Given the description of an element on the screen output the (x, y) to click on. 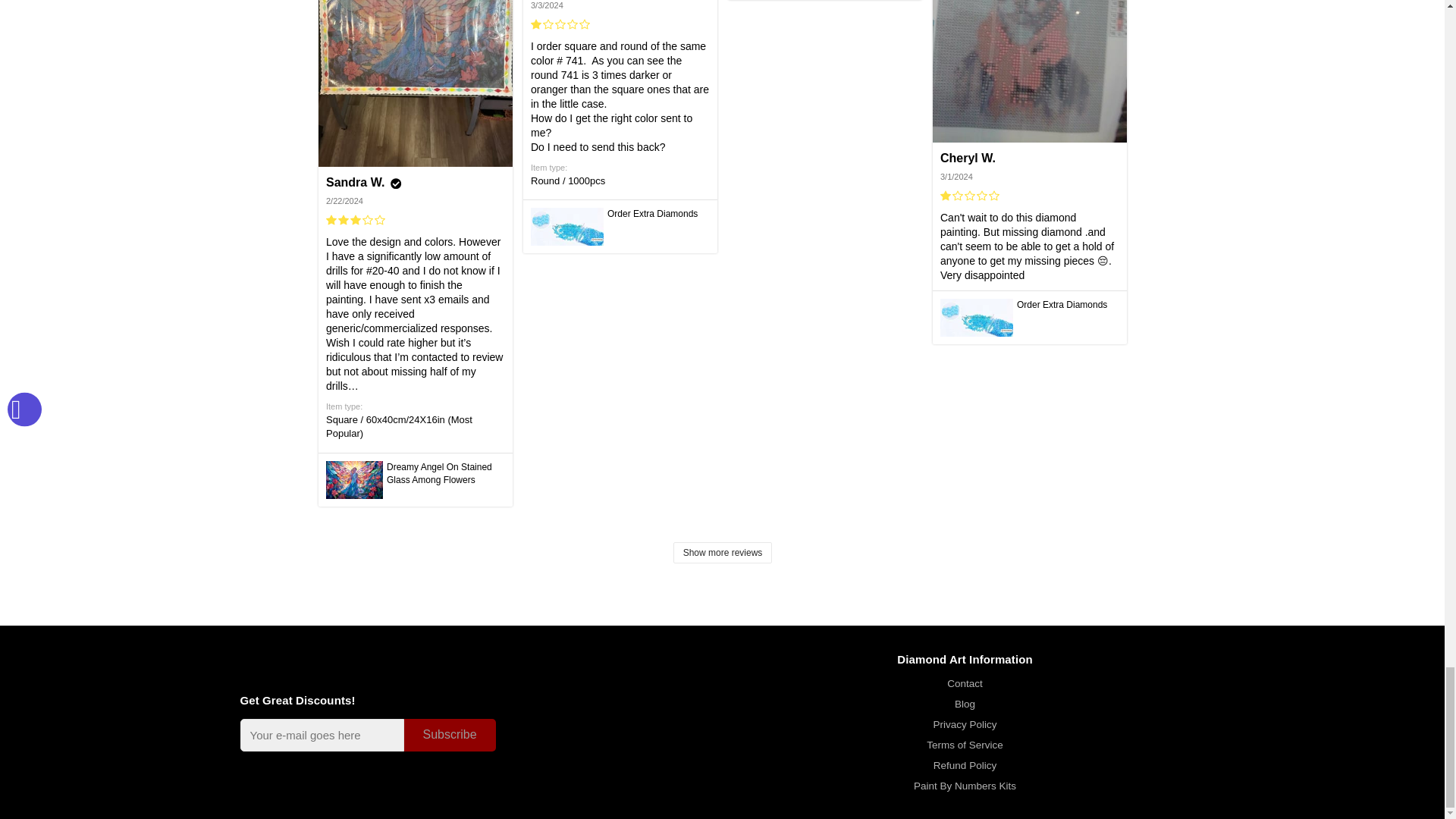
Paint By Numbers Kits (964, 785)
Subscribe (449, 735)
Refund Policy (964, 765)
Blog (964, 704)
Privacy Policy (964, 724)
Contact (964, 683)
Terms of Service (964, 745)
